Given the description of an element on the screen output the (x, y) to click on. 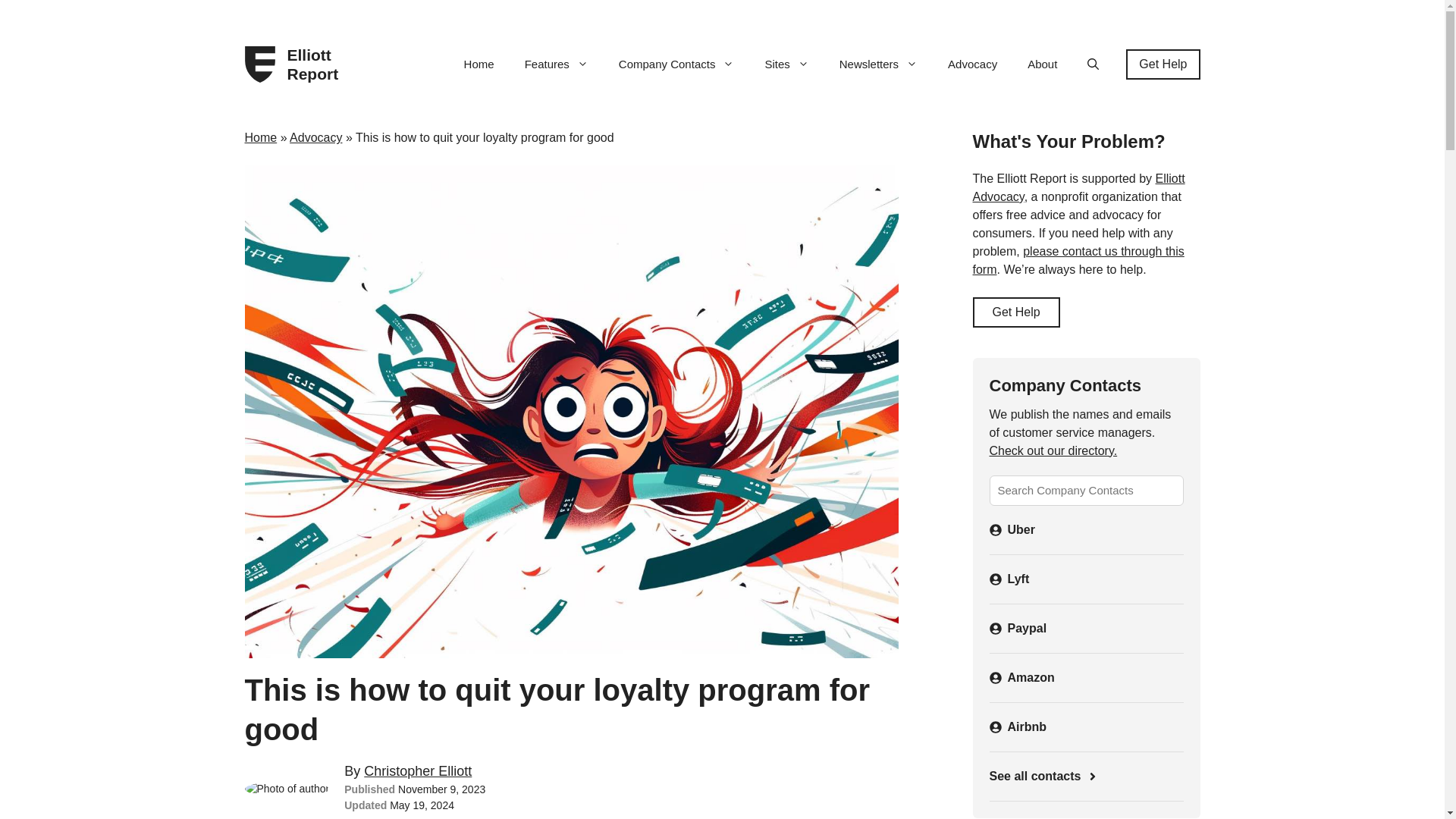
Company Contacts (676, 64)
Features (556, 64)
Home (478, 64)
Get Help (1162, 64)
Newsletters (878, 64)
Sites (786, 64)
About (1041, 64)
Elliott Report (318, 64)
Advocacy (972, 64)
